Given the description of an element on the screen output the (x, y) to click on. 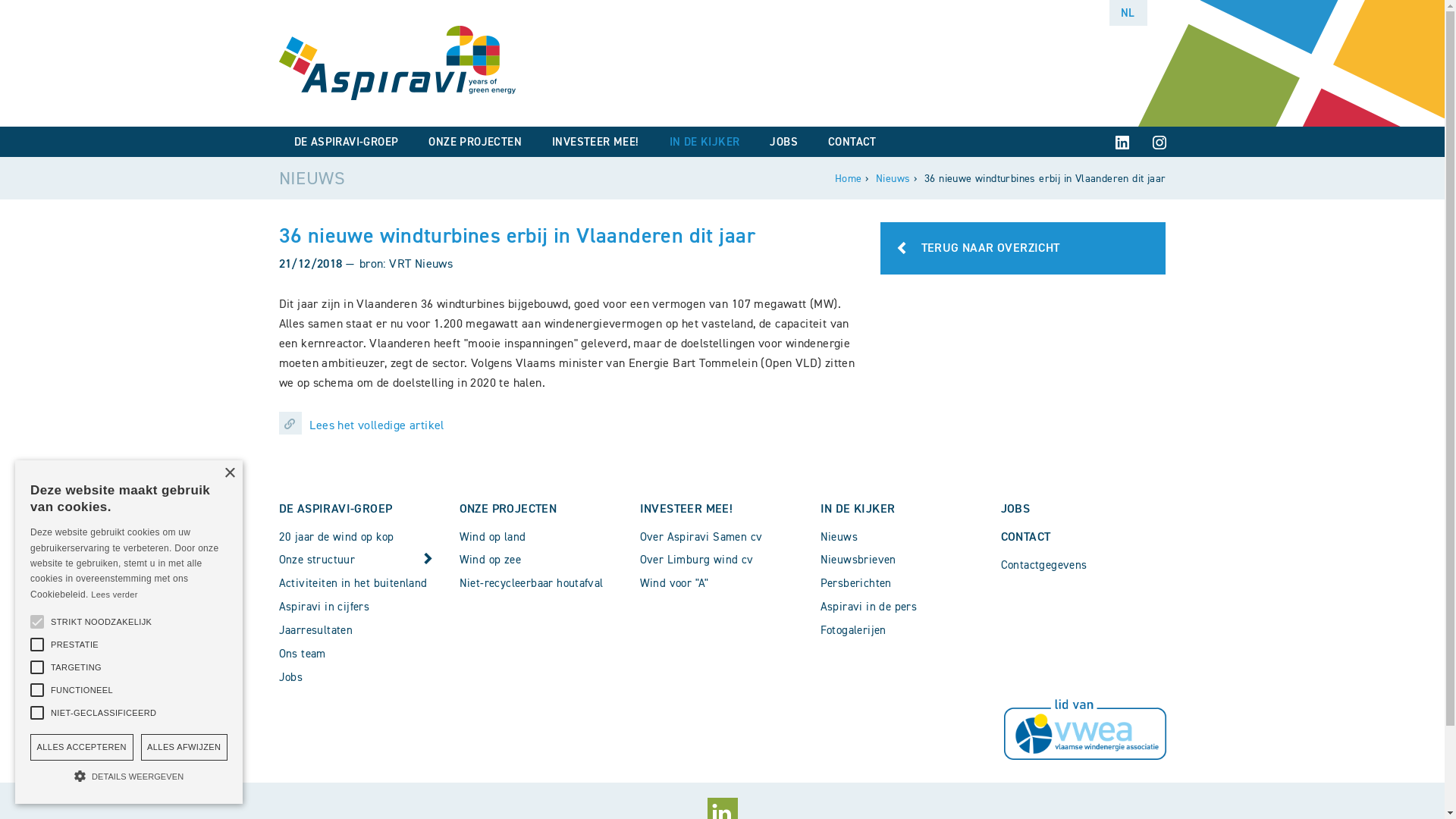
CONTACT Element type: text (1026, 535)
Wind op land Element type: text (541, 536)
ONZE PROJECTEN Element type: text (508, 508)
DE ASPIRAVI-GROEP Element type: text (335, 508)
Over Aspiravi Samen cv Element type: text (722, 536)
Nieuws Element type: text (902, 536)
INVESTEER MEE! Element type: text (595, 141)
Over Limburg wind cv Element type: text (722, 559)
Jobs Element type: text (361, 677)
Aspiravi in cijfers Element type: text (361, 606)
CONTACT Element type: text (851, 141)
Aspiravi in de pers Element type: text (902, 606)
IN DE KIJKER Element type: text (857, 508)
Lees het volledige artikel Element type: text (572, 422)
Contactgegevens Element type: text (1083, 564)
JOBS Element type: text (1015, 508)
IN DE KIJKER Element type: text (704, 141)
Nieuwsbrieven Element type: text (902, 559)
ONZE PROJECTEN Element type: text (474, 141)
INVESTEER MEE! Element type: text (686, 508)
Wind voor "A" Element type: text (722, 583)
Wind op zee Element type: text (541, 559)
DE ASPIRAVI-GROEP Element type: text (346, 141)
Jaarresultaten Element type: text (361, 630)
Persberichten Element type: text (902, 583)
Activiteiten in het buitenland Element type: text (361, 583)
TERUG NAAR OVERZICHT Element type: text (1023, 248)
NL Element type: text (1127, 12)
Onze structuur Element type: text (361, 559)
JOBS Element type: text (783, 141)
Nieuws Element type: text (892, 178)
Lees verder Element type: text (114, 594)
20 jaar de wind op kop Element type: text (361, 536)
Niet-recycleerbaar houtafval Element type: text (541, 583)
Home Element type: text (848, 178)
Ons team Element type: text (361, 653)
Fotogalerijen Element type: text (902, 630)
